Given the description of an element on the screen output the (x, y) to click on. 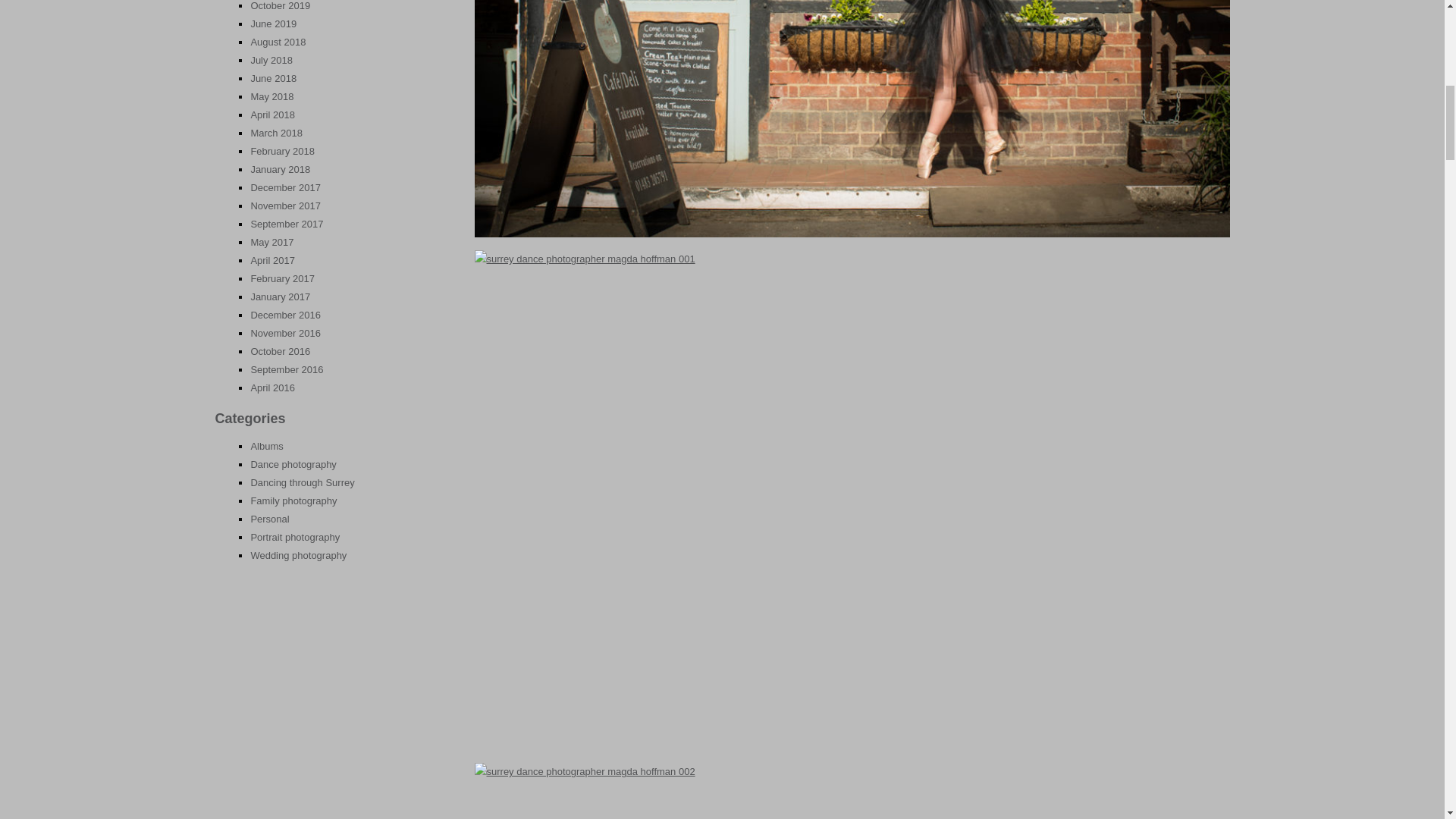
November 2017 (285, 205)
December 2017 (285, 187)
March 2018 (276, 132)
July 2018 (271, 60)
February 2018 (282, 151)
May 2018 (272, 96)
April 2018 (272, 114)
June 2019 (273, 23)
January 2018 (280, 169)
October 2019 (280, 5)
June 2018 (273, 78)
August 2018 (277, 41)
